Given the description of an element on the screen output the (x, y) to click on. 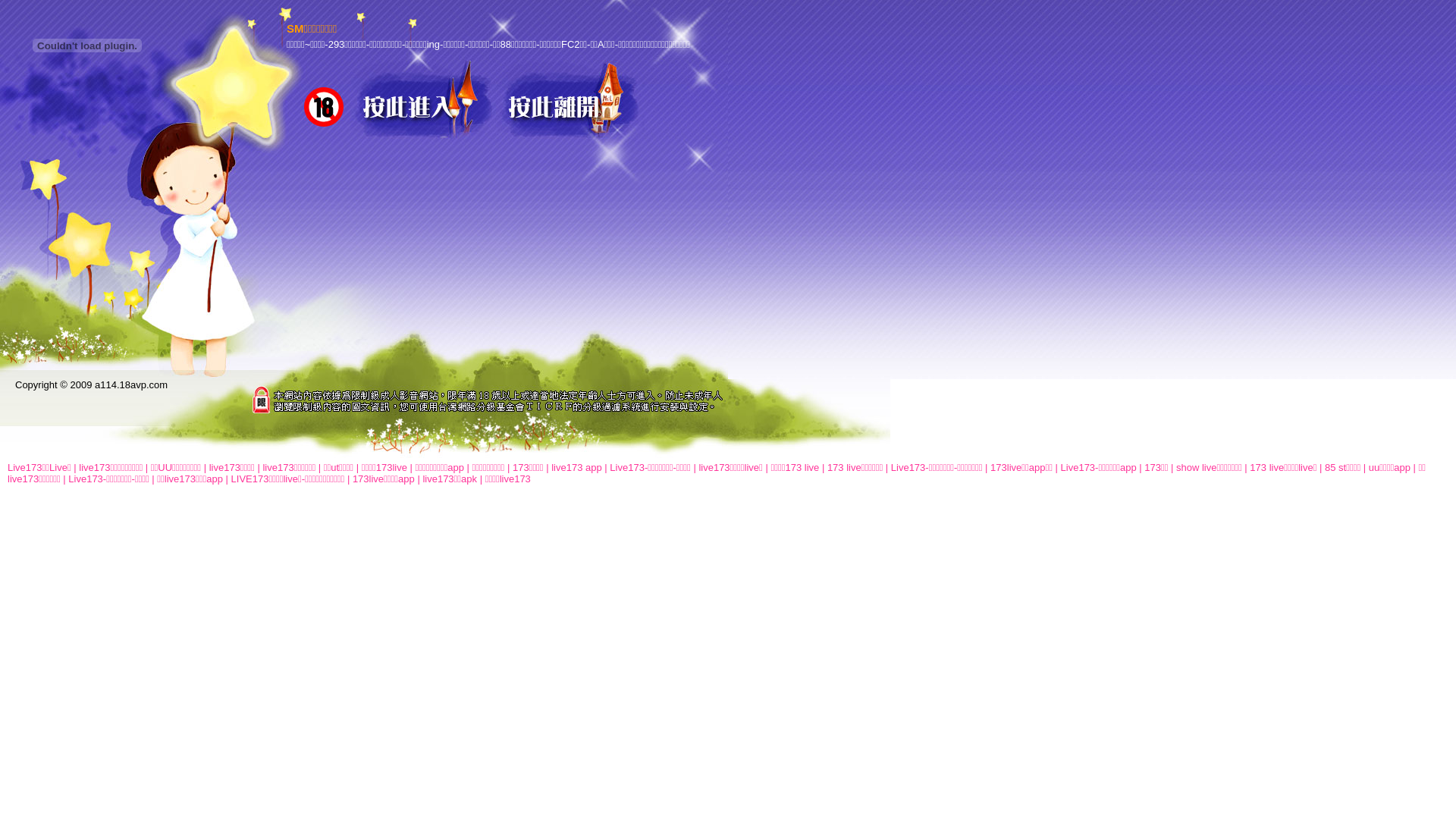
live173 app Element type: text (576, 467)
